Given the description of an element on the screen output the (x, y) to click on. 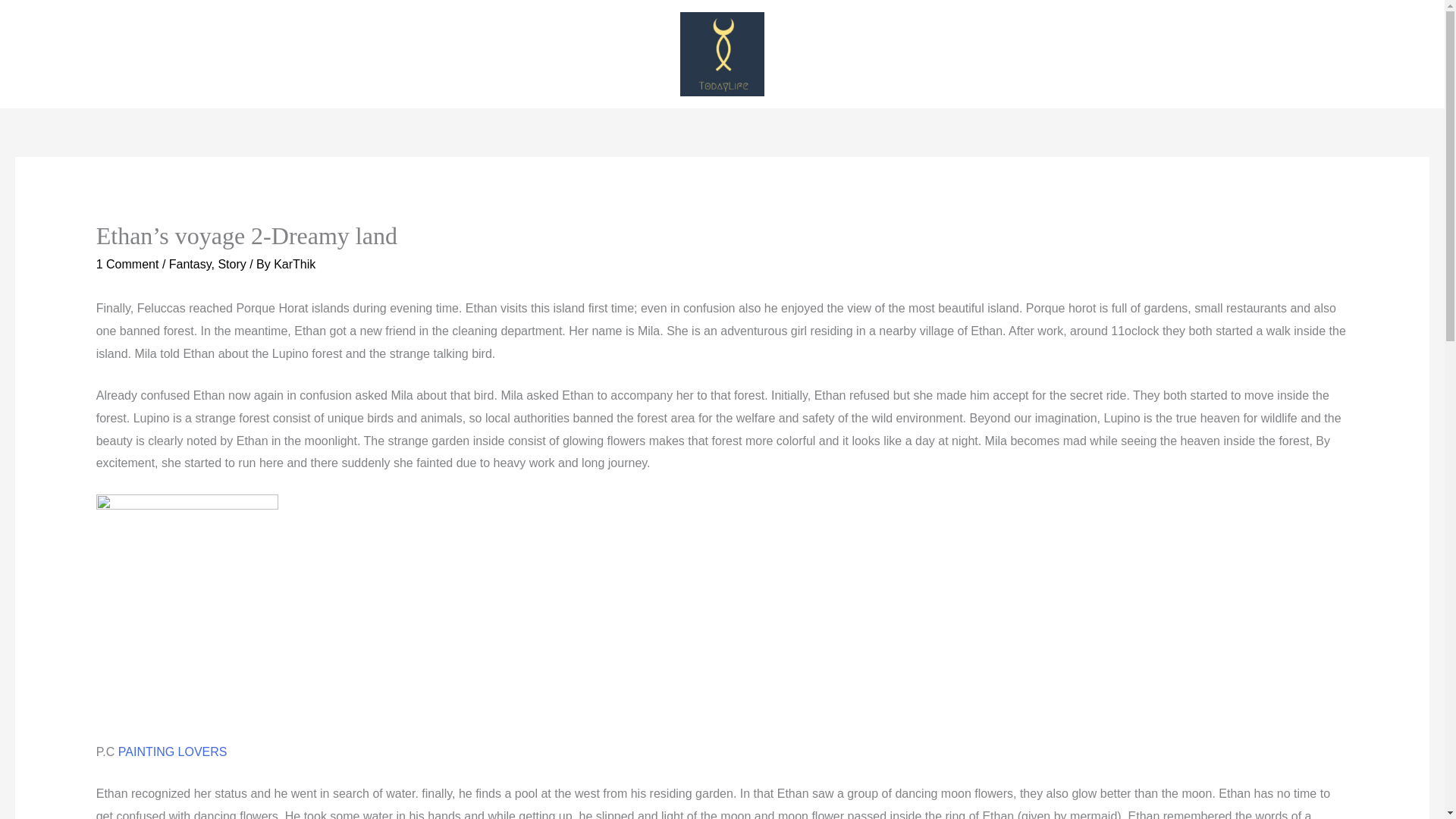
KarThik (294, 264)
1 Comment (127, 264)
Story (231, 264)
Fantasy (189, 264)
View all posts by KarThik (294, 264)
PAINTING LOVERS (172, 751)
